Given the description of an element on the screen output the (x, y) to click on. 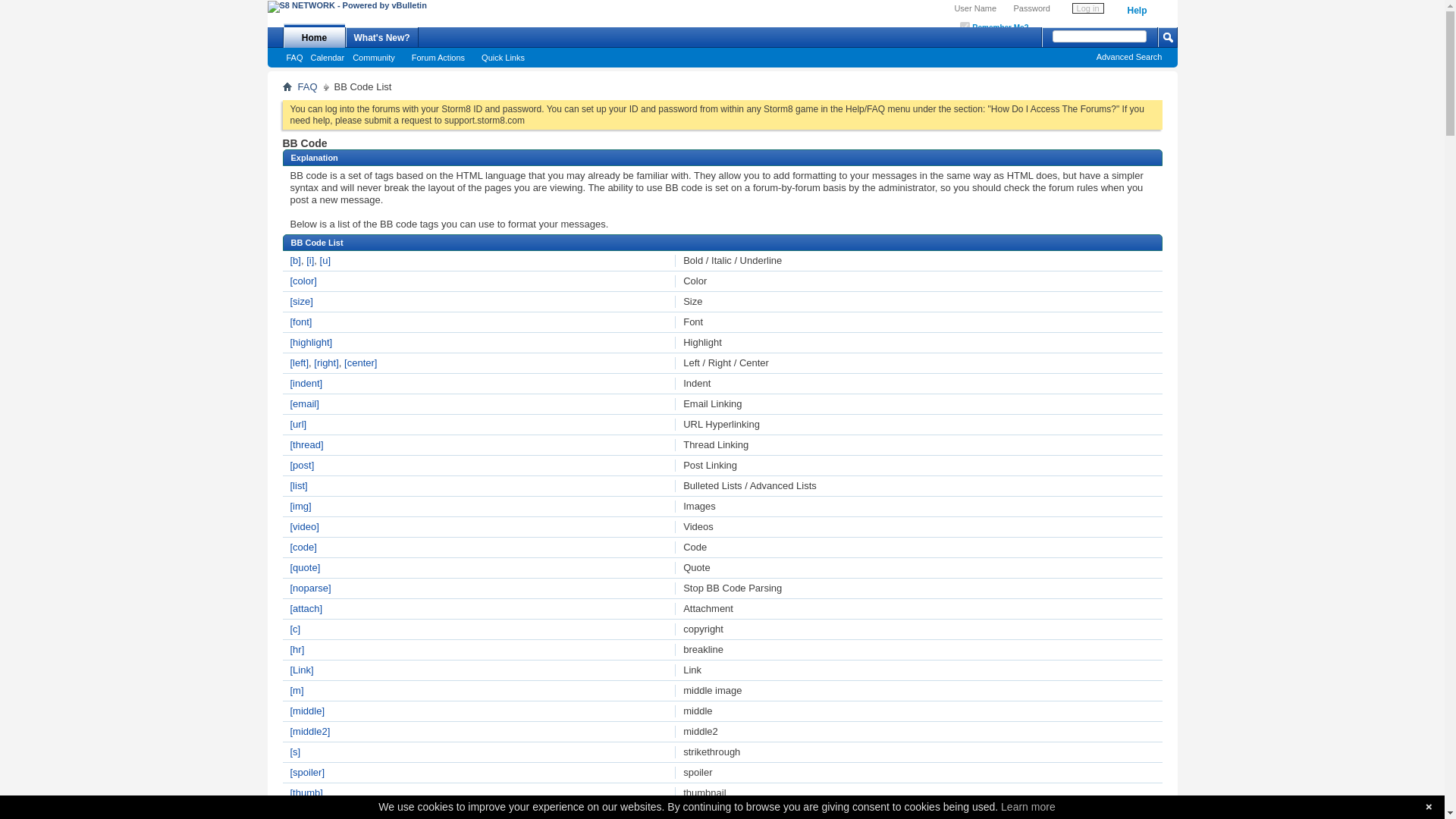
S8 NETWORK - Powered by vBulletin (346, 6)
What's New? (381, 37)
Quick Links (507, 57)
FAQ (293, 57)
Home (286, 85)
Home (314, 35)
Forum Actions (442, 57)
Community (377, 57)
FAQ (307, 86)
Calendar (328, 57)
